Given the description of an element on the screen output the (x, y) to click on. 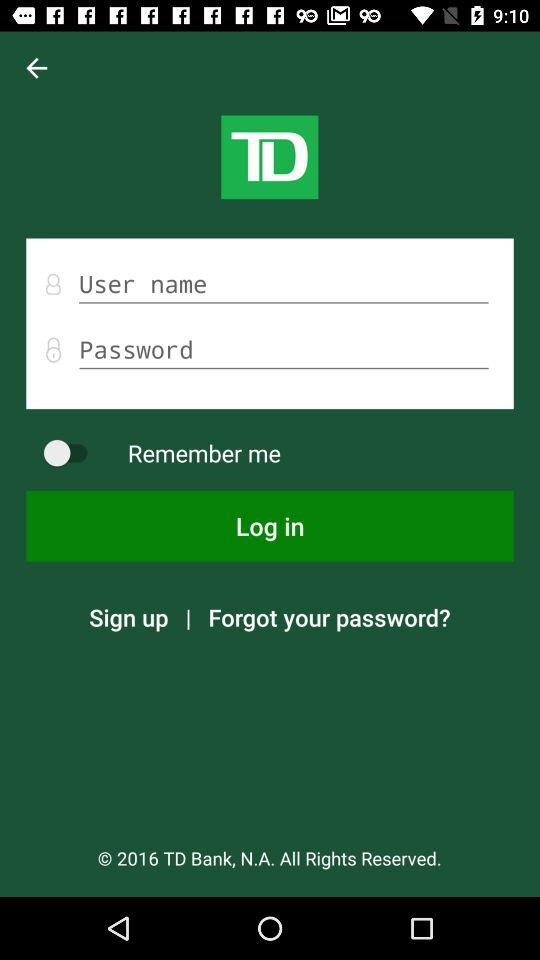
open the forgot your password? icon (329, 617)
